Given the description of an element on the screen output the (x, y) to click on. 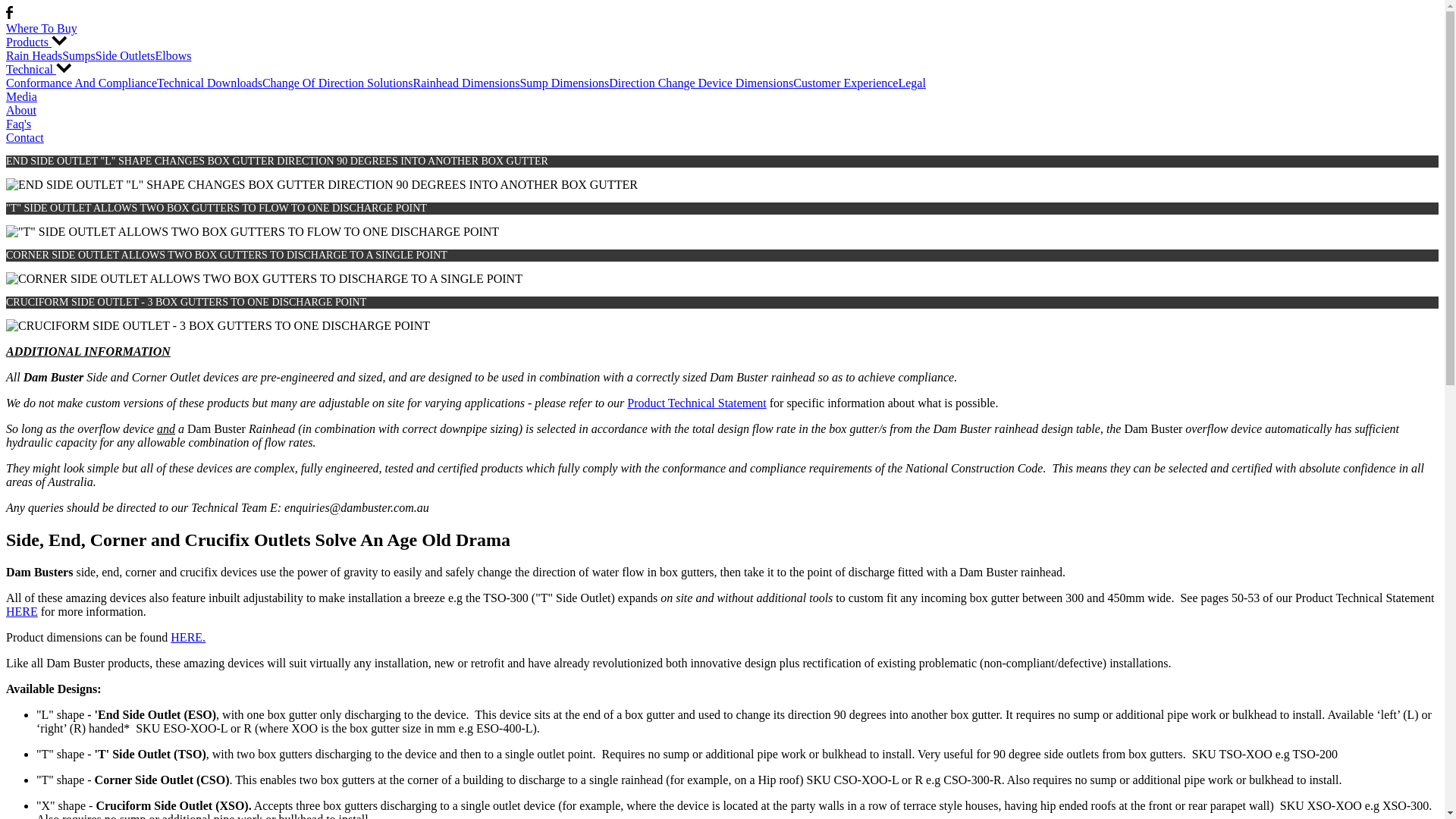
Side Outlets Element type: text (125, 55)
Media Element type: text (722, 96)
Direction Change Device Dimensions Element type: text (700, 82)
Elbows Element type: text (172, 55)
Rain Heads Element type: text (34, 55)
Customer Experience Element type: text (845, 82)
Sump Dimensions Element type: text (563, 82)
A link to this website's Facebook. Element type: hover (9, 14)
Change Of Direction Solutions Element type: text (337, 82)
Contact Element type: text (722, 137)
About Element type: text (722, 110)
Technical Downloads Element type: text (209, 82)
Faq's Element type: text (722, 124)
Where To Buy Element type: text (722, 28)
Sumps Element type: text (78, 55)
Conformance And Compliance Element type: text (81, 82)
HERE. Element type: text (187, 636)
Legal Element type: text (911, 82)
Products Element type: text (722, 42)
Rainhead Dimensions Element type: text (466, 82)
Technical Element type: text (722, 69)
HERE Element type: text (21, 611)
Product Technical Statement Element type: text (696, 402)
